Given the description of an element on the screen output the (x, y) to click on. 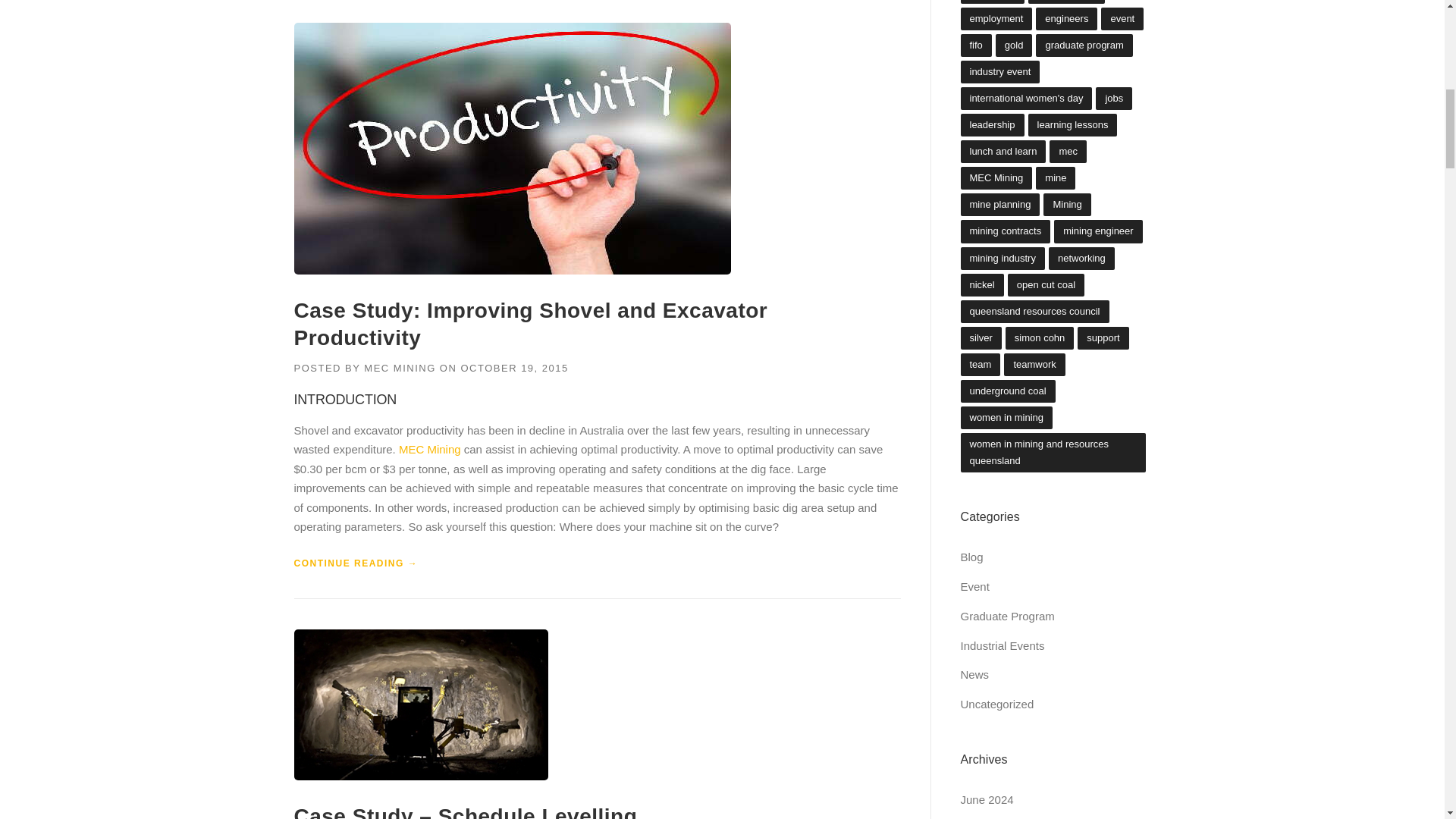
MEC MINING (399, 367)
Case Study: Improving Shovel and Excavator Productivity (531, 323)
MEC Mining (429, 449)
OCTOBER 19, 2015 (513, 367)
